Given the description of an element on the screen output the (x, y) to click on. 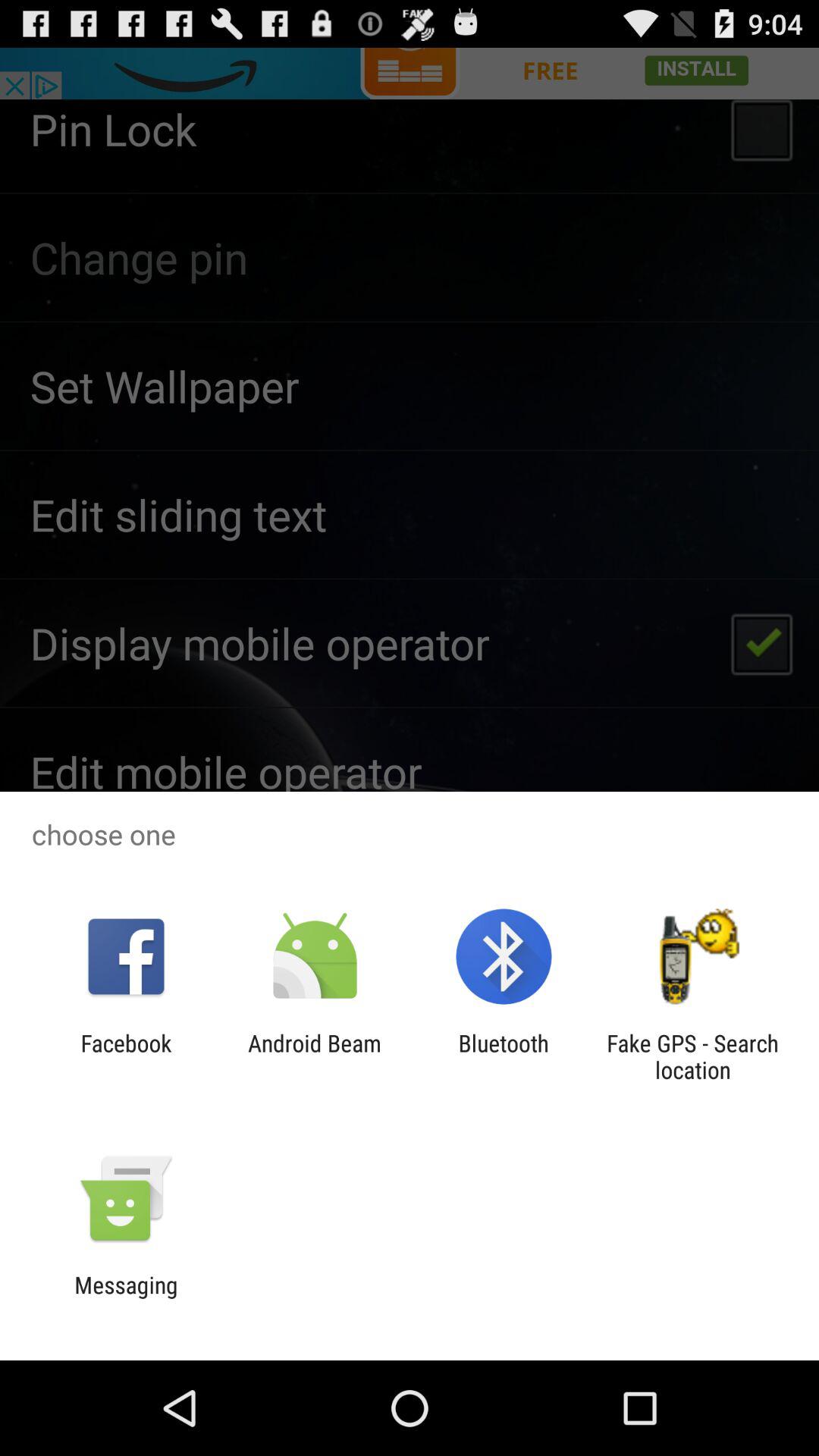
choose the fake gps search icon (692, 1056)
